Given the description of an element on the screen output the (x, y) to click on. 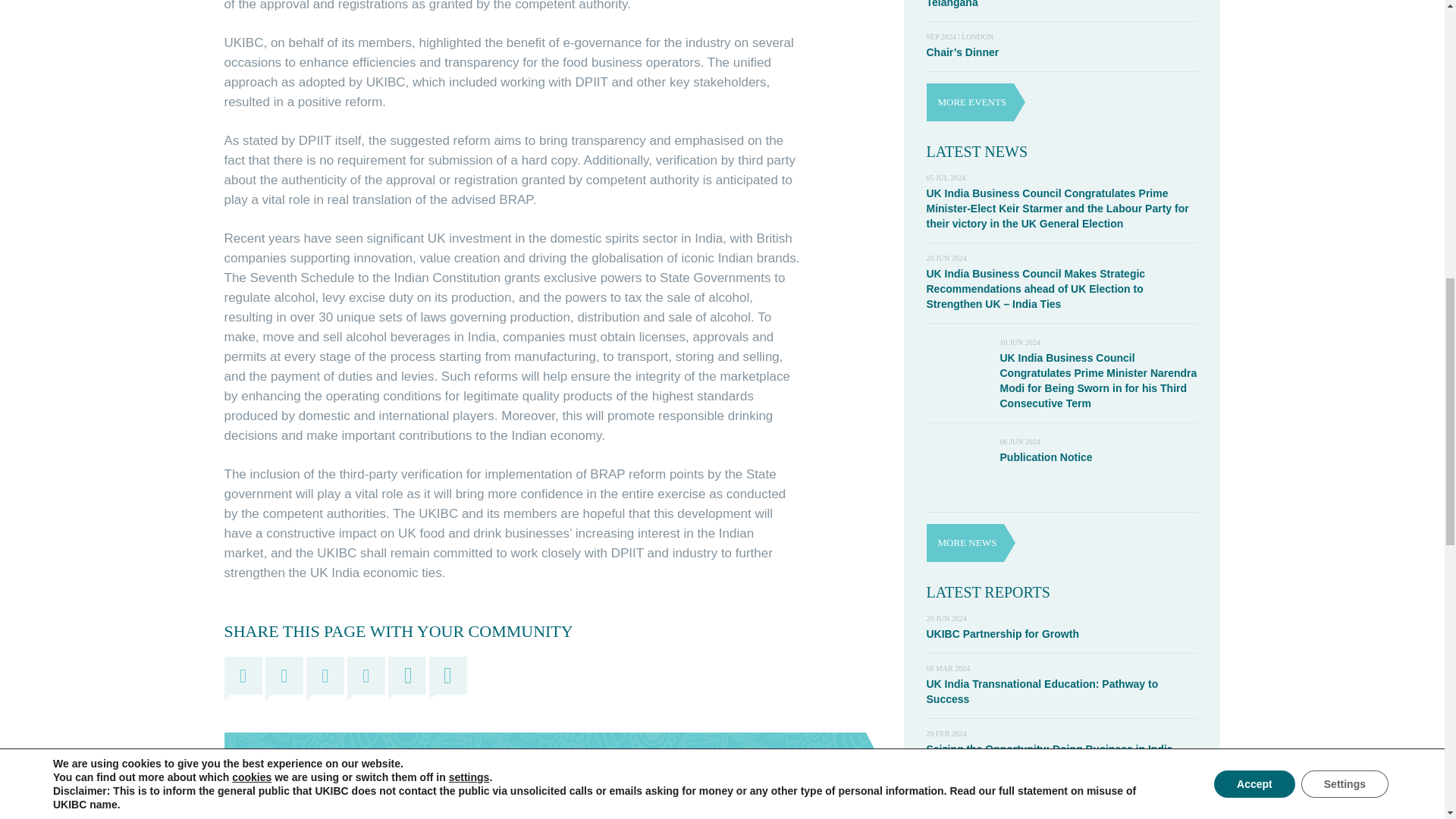
Share on LinkedIn (324, 675)
Share on Twitter (283, 675)
Share on Facebook (243, 675)
Send by mail (407, 675)
Print page (448, 675)
